Given the description of an element on the screen output the (x, y) to click on. 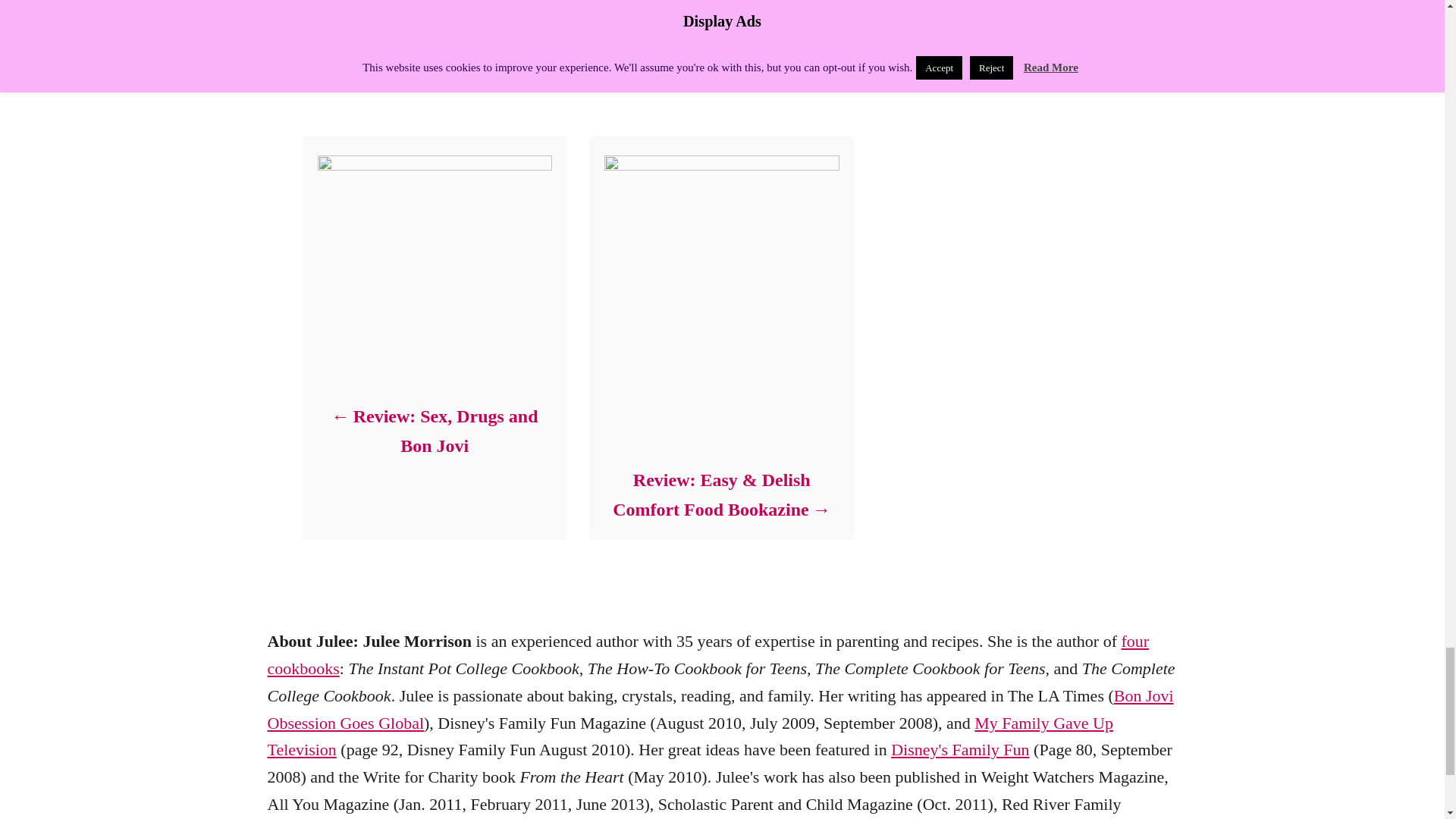
Lifestyle (360, 55)
Julee (328, 34)
Disney's Family Fun (960, 749)
Books (405, 55)
Review: Sex, Drugs and Bon Jovi (434, 431)
Home (315, 55)
Bon Jovi Obsession Goes Global (719, 709)
My Family Gave Up Television (689, 736)
four cookbooks (707, 654)
